Given the description of an element on the screen output the (x, y) to click on. 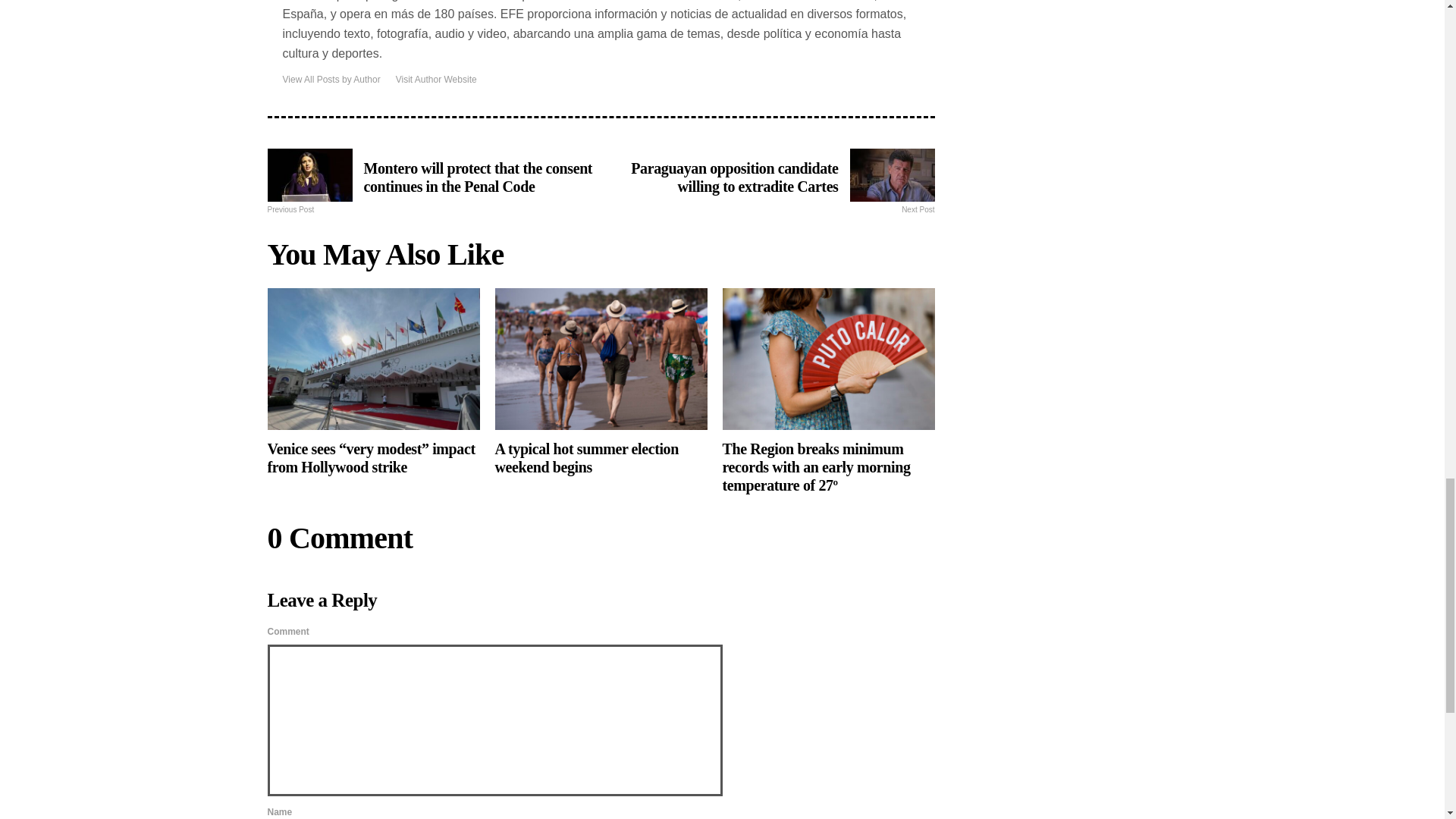
A typical hot summer election weekend begins (600, 381)
View All Posts by Author (331, 79)
Visit Author Website (436, 79)
